Given the description of an element on the screen output the (x, y) to click on. 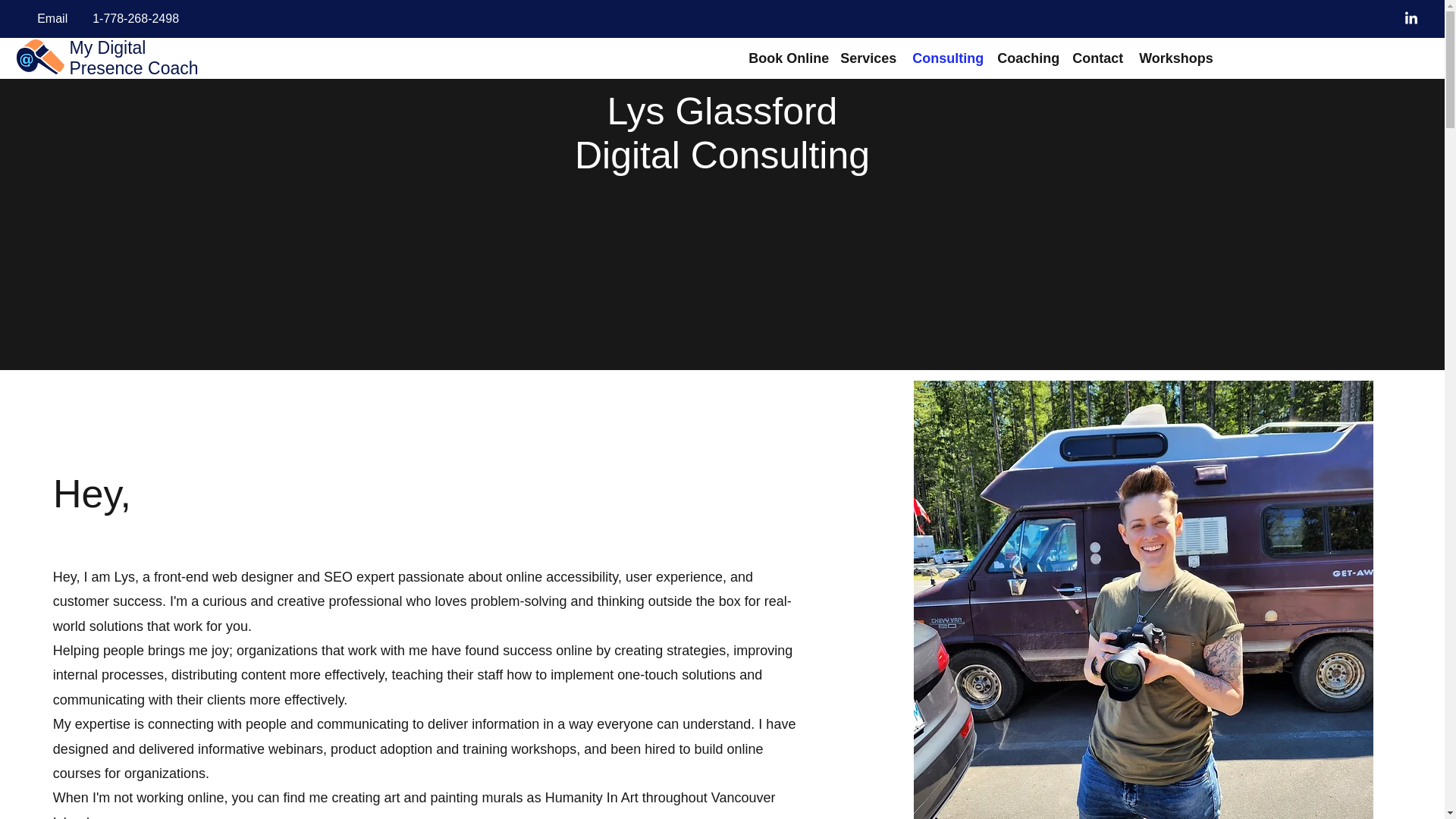
Book Online (782, 57)
Coaching (1023, 57)
Presence Coach (133, 67)
Consulting (943, 57)
Services (864, 57)
Contact (1093, 57)
Email (52, 19)
My Digital (106, 47)
Workshops (1170, 57)
